Given the description of an element on the screen output the (x, y) to click on. 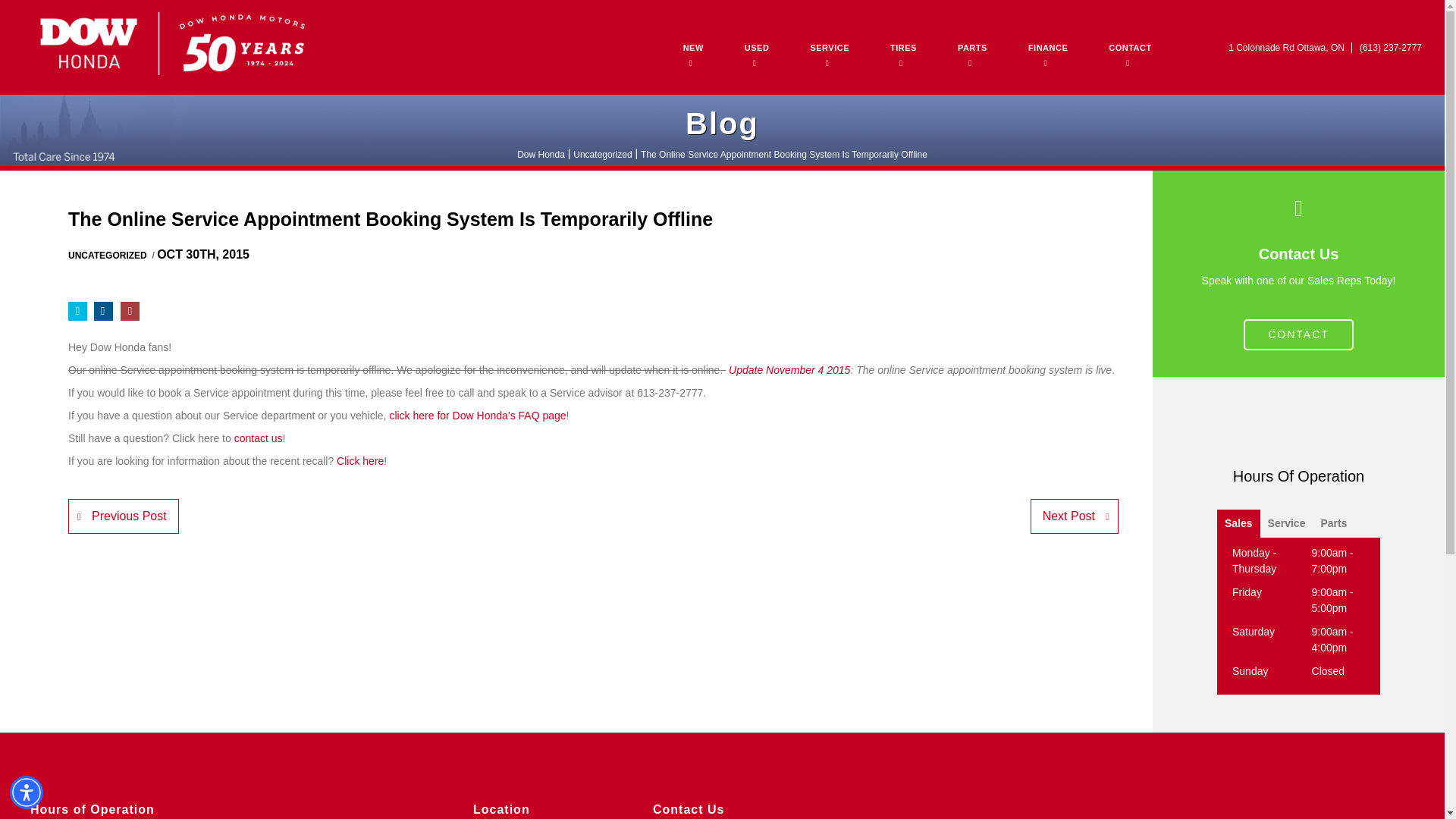
The Online Service Appointment Booking System is Back! (789, 369)
USED (757, 47)
Contact Dow Honda (258, 438)
Go to the Uncategorized category archives. (602, 154)
NEW (692, 47)
Expanded Airbag Recall (360, 460)
PARTS (972, 47)
 Dow Honda (169, 43)
Accessibility Menu (26, 792)
TIRES (903, 47)
FINANCE (1047, 47)
Share on Facebook. (103, 311)
Tweet this! (77, 311)
Dow Honda FAQ (477, 415)
SERVICE (828, 47)
